Given the description of an element on the screen output the (x, y) to click on. 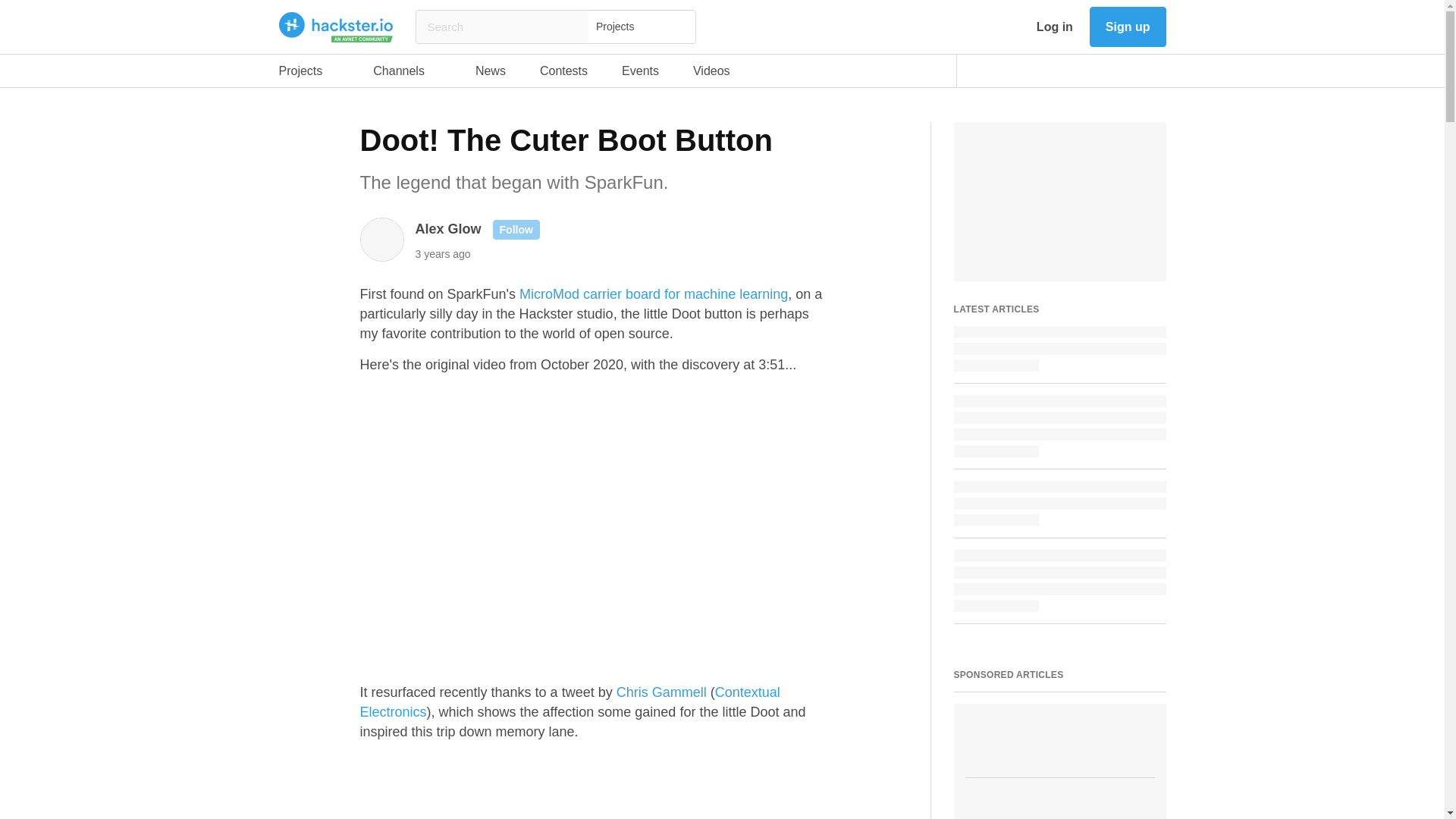
Projects (309, 74)
Sign up for our Newsletter (504, 74)
Channels (985, 70)
Alex Glow (406, 74)
instagram (447, 228)
linkedin (1055, 70)
News (1160, 70)
Channels (490, 74)
youtube (406, 74)
Hackster.io (1125, 70)
Sign up (336, 27)
Events (1127, 26)
Jun 22, 2021 (640, 74)
MicroMod carrier board for machine learning (442, 253)
